Given the description of an element on the screen output the (x, y) to click on. 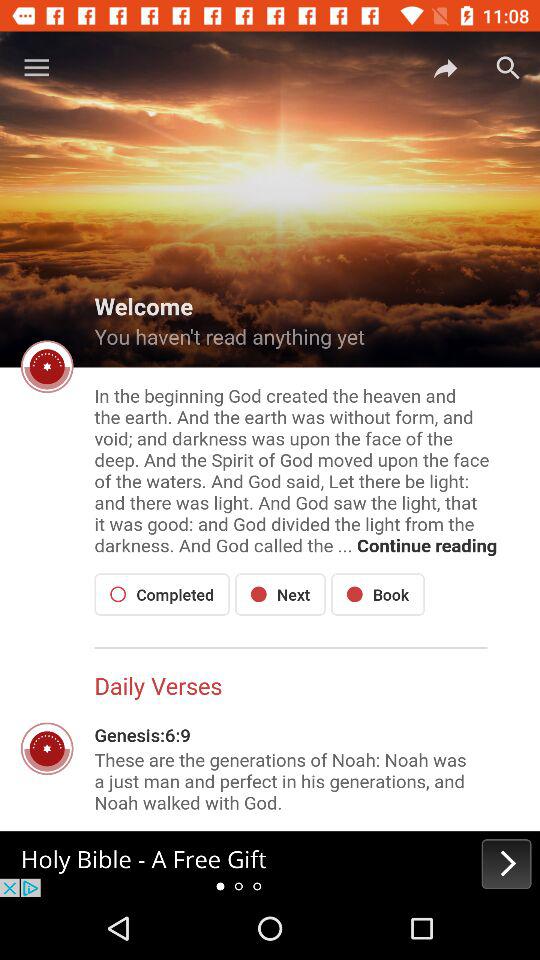
open advertisement (270, 864)
